Given the description of an element on the screen output the (x, y) to click on. 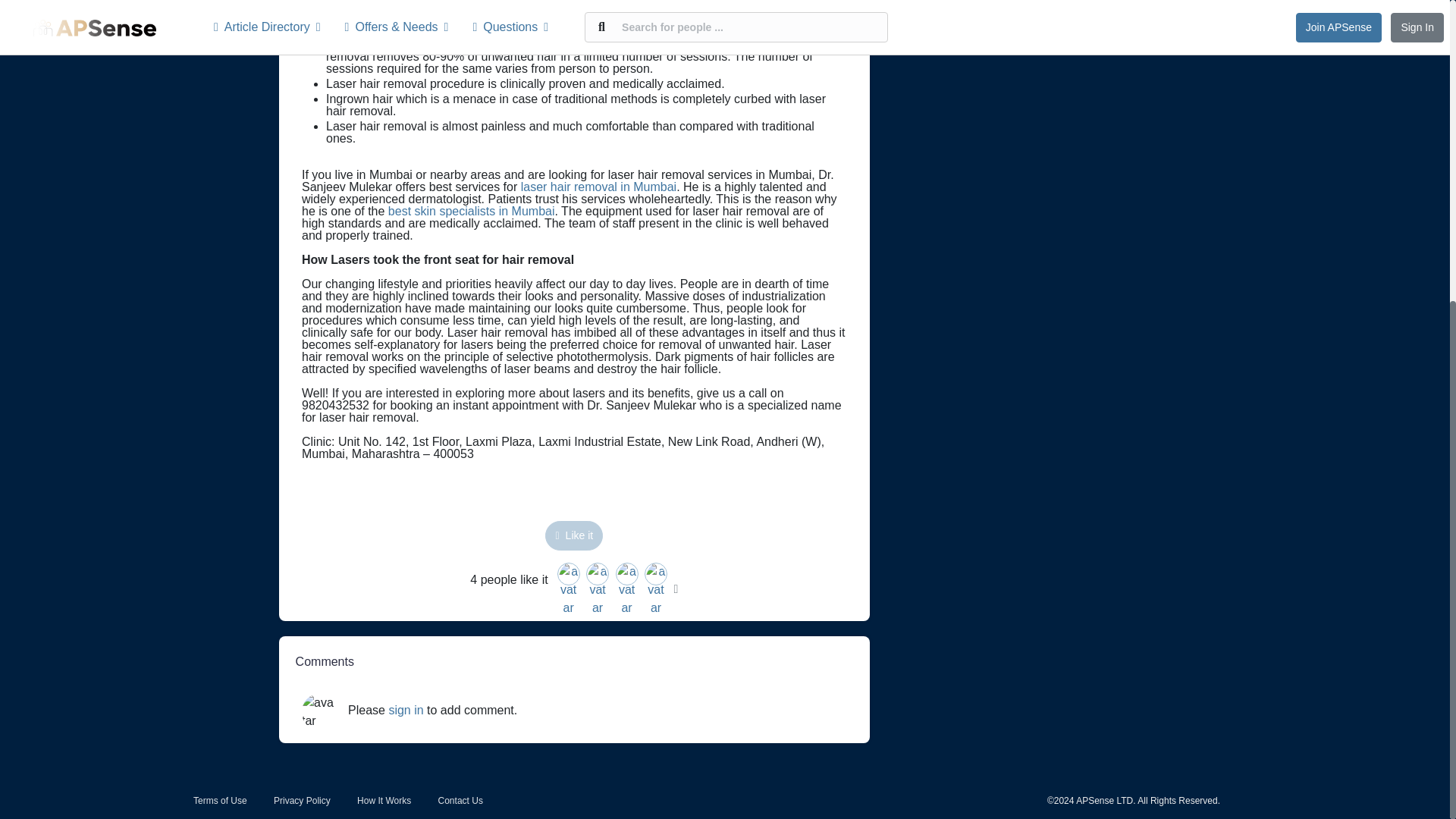
sign in (405, 709)
Like it (573, 535)
laser hair removal in Mumbai (599, 186)
How to Select Best Dermatologist For Acne Cure? (1053, 9)
best skin specialists in Mumbai (471, 210)
